Given the description of an element on the screen output the (x, y) to click on. 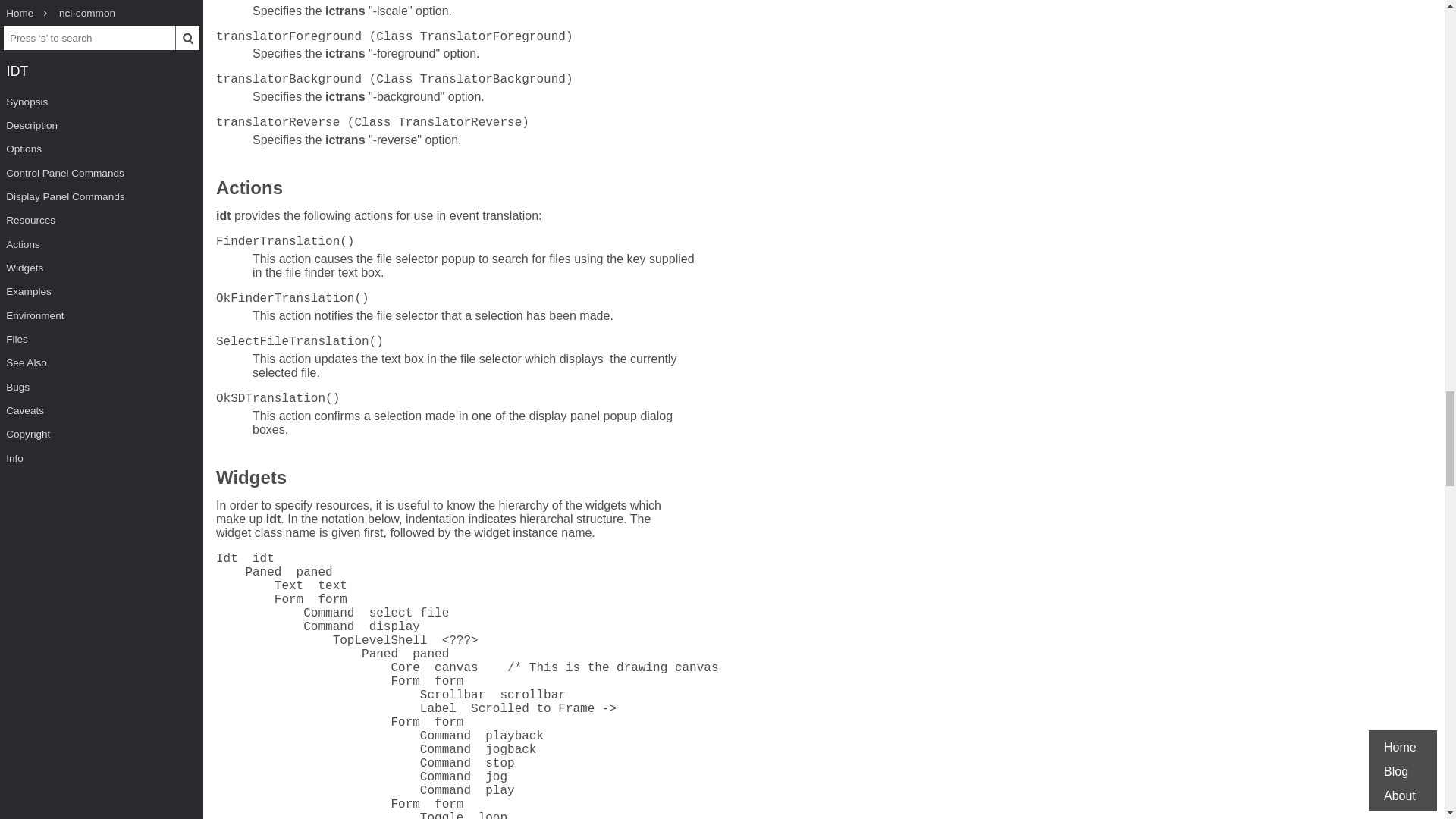
Widgets (250, 479)
Actions (248, 189)
